Given the description of an element on the screen output the (x, y) to click on. 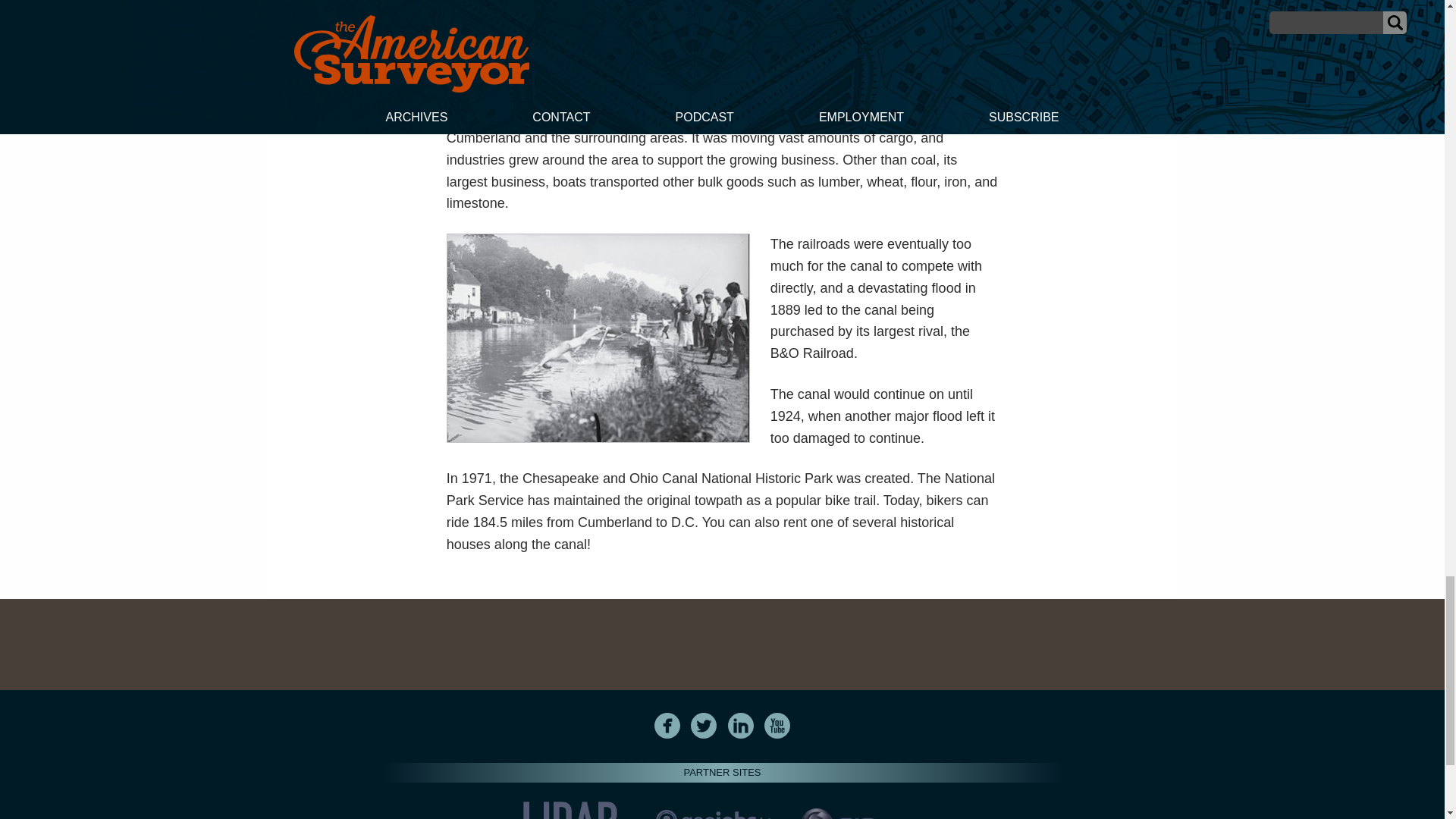
3rd party ad content (721, 643)
icon-sm-youtube (776, 725)
icon-sm-linkedin (740, 725)
icon-sm-twitter (703, 725)
icon-sm-fb (667, 725)
icon-sm-twitter (703, 725)
icon-sm-youtube (777, 725)
icon-sm-linkedin (741, 725)
icon-sm-fb (666, 725)
